Given the description of an element on the screen output the (x, y) to click on. 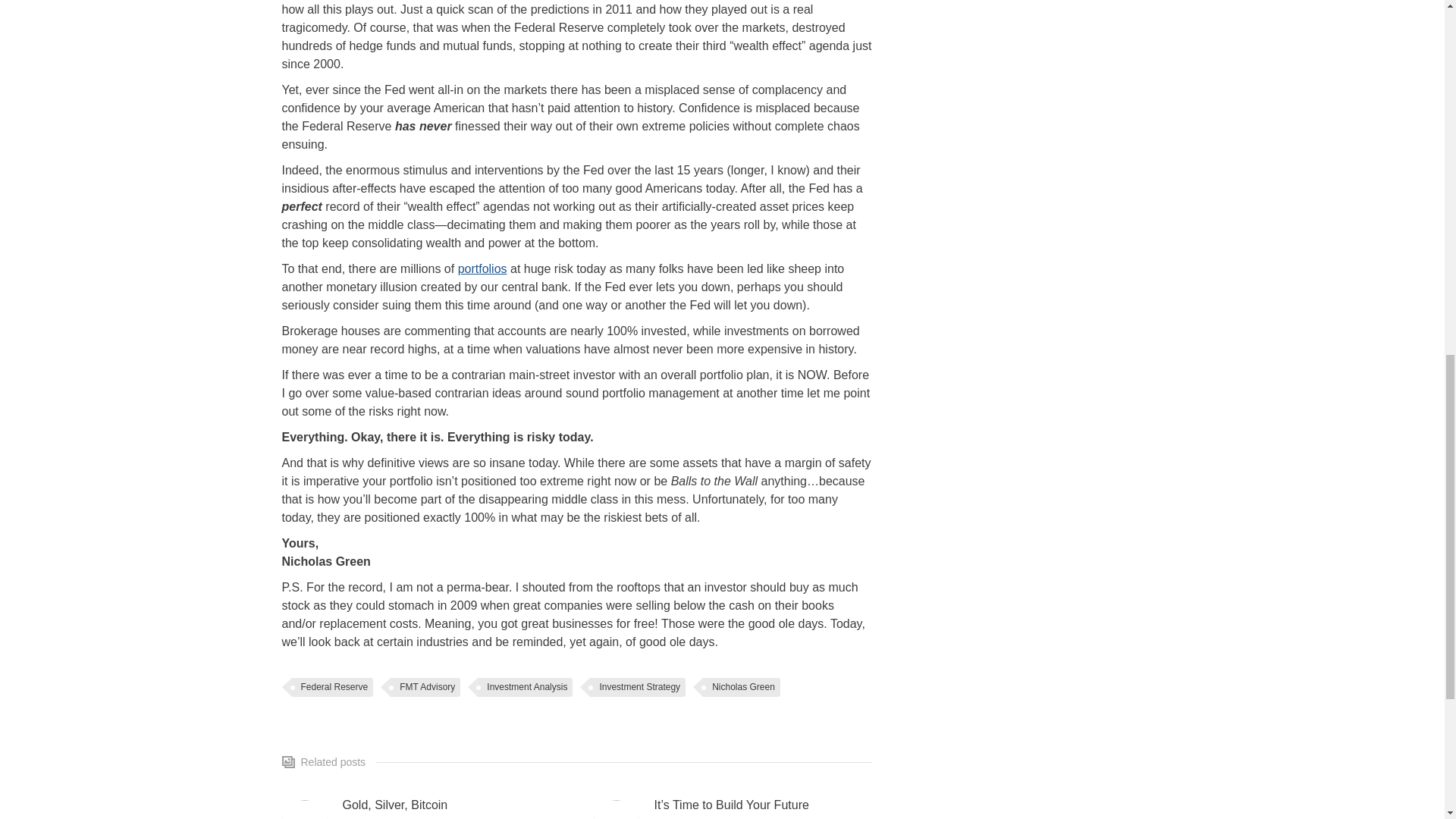
portfolios (482, 268)
Gold, Silver, Bitcoin (395, 805)
Investment Strategy (637, 687)
See what our model portfolios look like (482, 268)
FMT Advisory (425, 687)
Investment Analysis (524, 687)
Nicholas Green (741, 687)
Federal Reserve (331, 687)
